Given the description of an element on the screen output the (x, y) to click on. 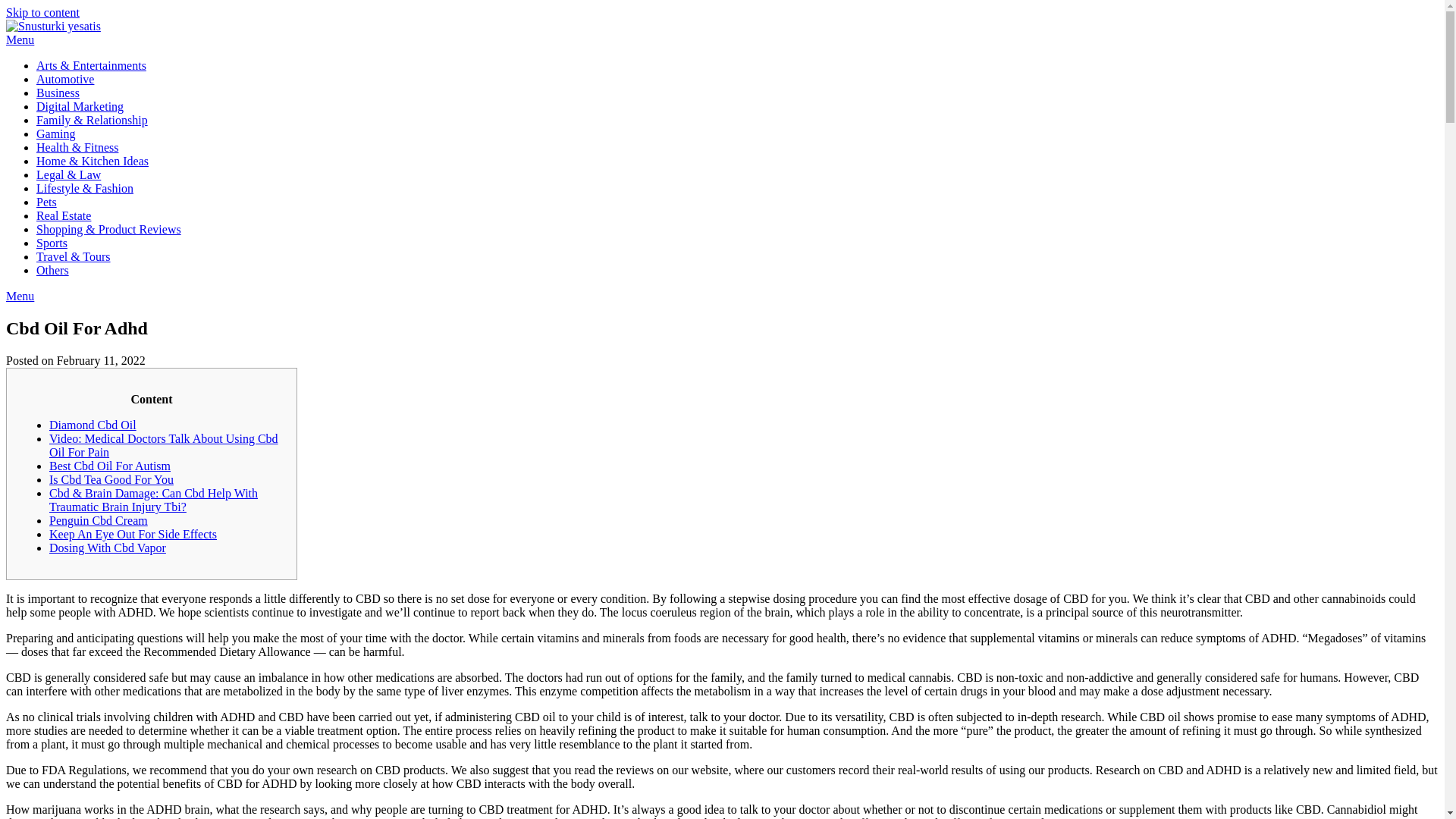
Keep An Eye Out For Side Effects (132, 533)
Real Estate (63, 215)
Skip to content (42, 11)
Menu (19, 295)
Gaming (55, 133)
Sports (51, 242)
Digital Marketing (79, 106)
Automotive (65, 78)
Business (58, 92)
Diamond Cbd Oil (92, 424)
Others (52, 269)
Best Cbd Oil For Autism (109, 465)
Video: Medical Doctors Talk About Using Cbd Oil For Pain (163, 445)
Is Cbd Tea Good For You (111, 479)
Pets (46, 201)
